Given the description of an element on the screen output the (x, y) to click on. 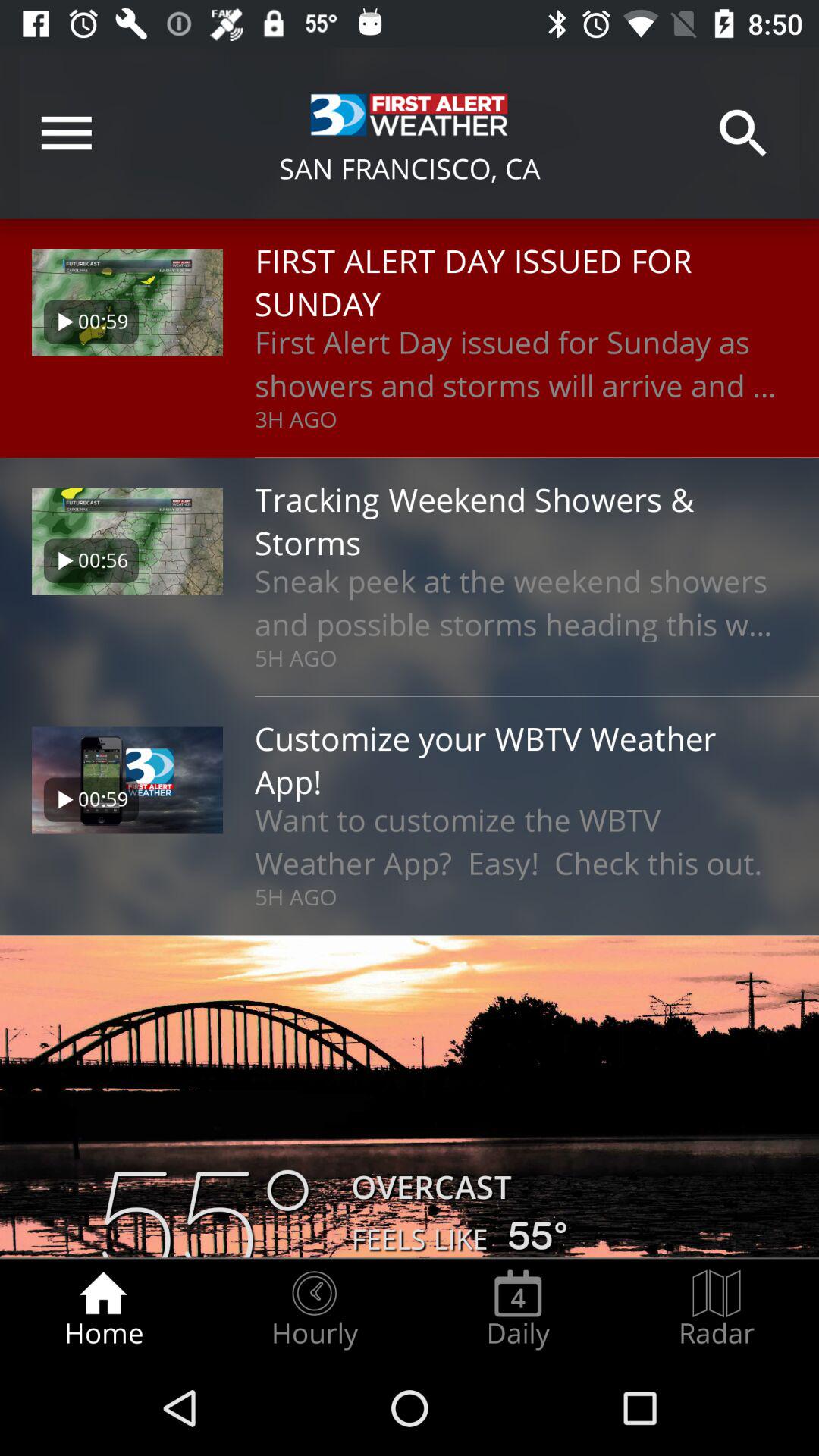
launch hourly icon (314, 1309)
